Given the description of an element on the screen output the (x, y) to click on. 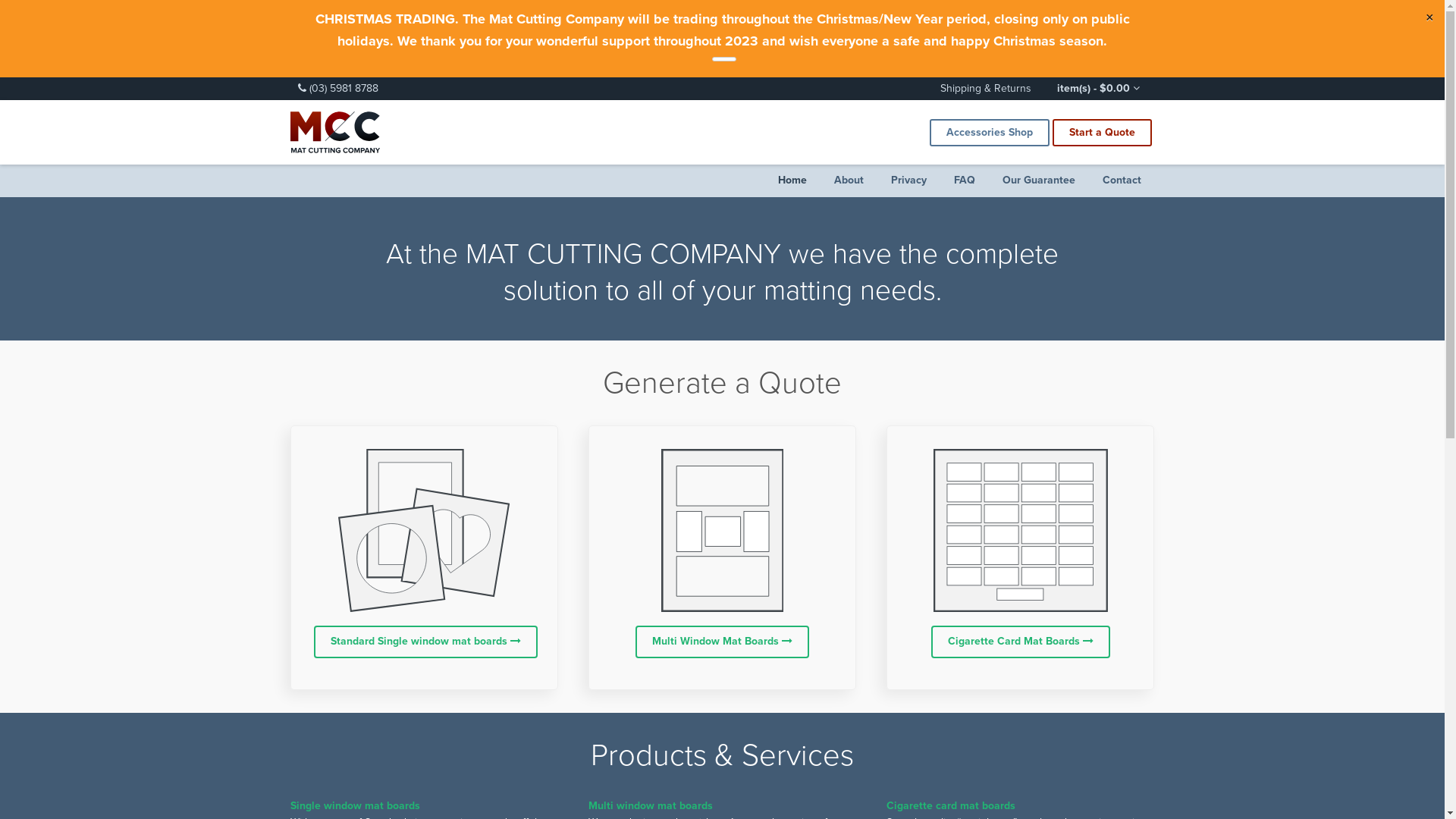
Multi Window Mat Boards Element type: text (722, 641)
Home Element type: text (792, 180)
Privacy Element type: text (907, 180)
Contact Element type: text (1121, 180)
Single window mat boards Element type: text (354, 805)
(03) 5981 8788 Element type: text (497, 88)
Start a Quote Element type: text (1101, 132)
About Element type: text (848, 180)
Standard Single window mat boards Element type: text (425, 641)
Shipping & Returns Element type: text (985, 88)
Our Guarantee Element type: text (1038, 180)
item(s) - $0.00 Element type: text (1097, 88)
FAQ Element type: text (964, 180)
Cigarette Card Mat Boards Element type: text (1020, 641)
Accessories Shop Element type: text (989, 132)
